Given the description of an element on the screen output the (x, y) to click on. 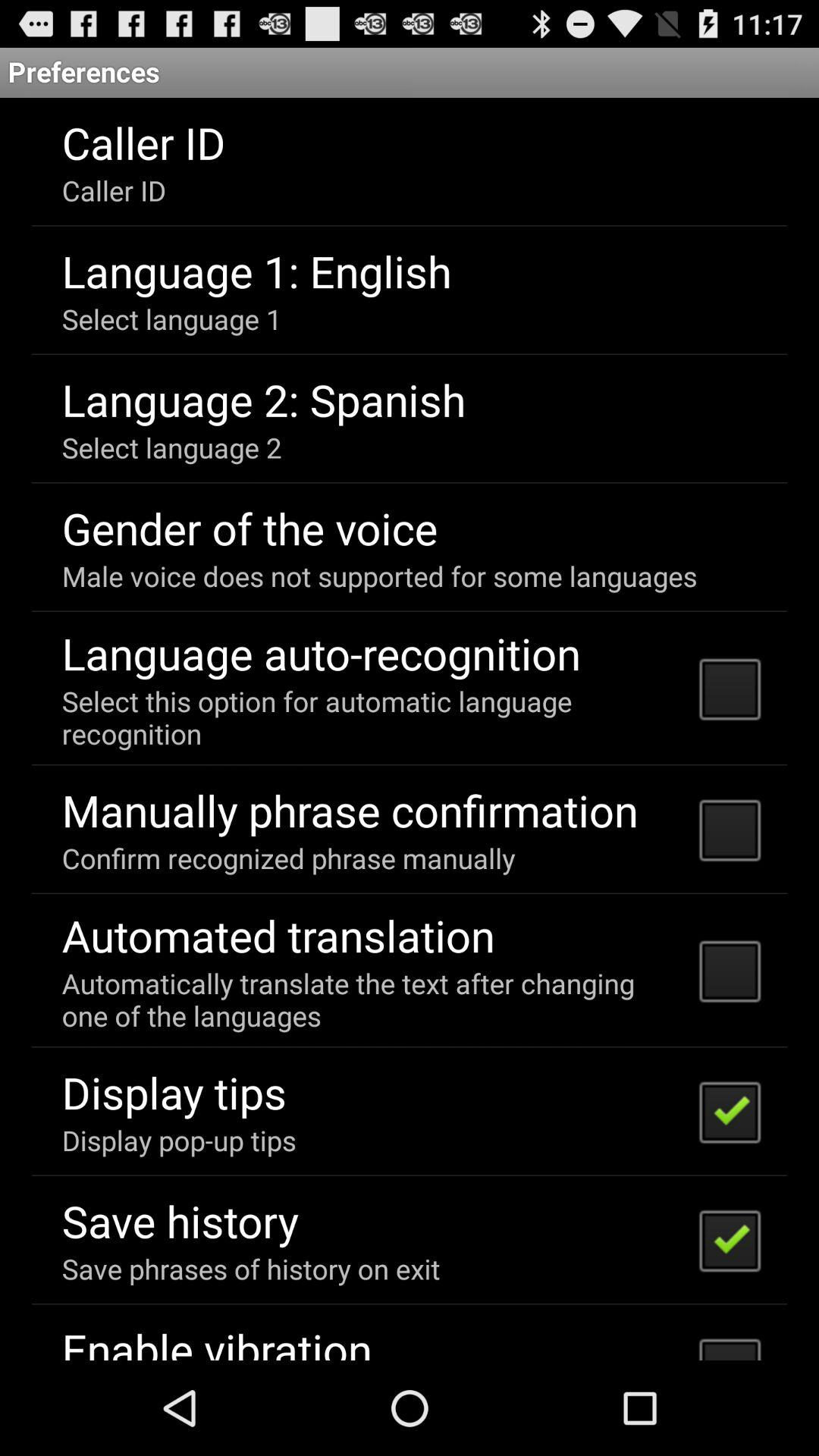
swipe to the automated translation app (277, 935)
